Given the description of an element on the screen output the (x, y) to click on. 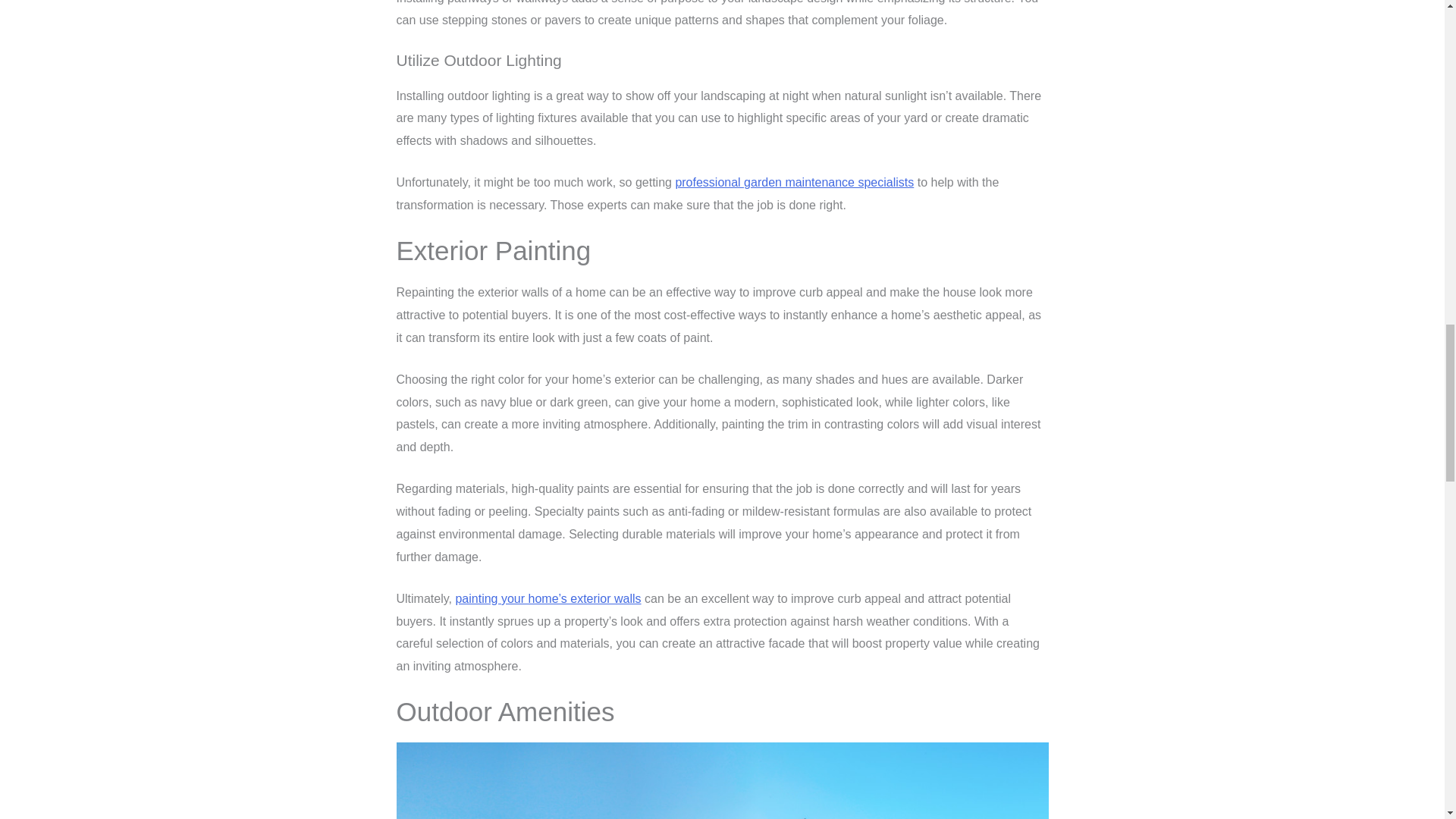
Outdoor amenities (722, 780)
professional garden maintenance specialists (794, 182)
